Given the description of an element on the screen output the (x, y) to click on. 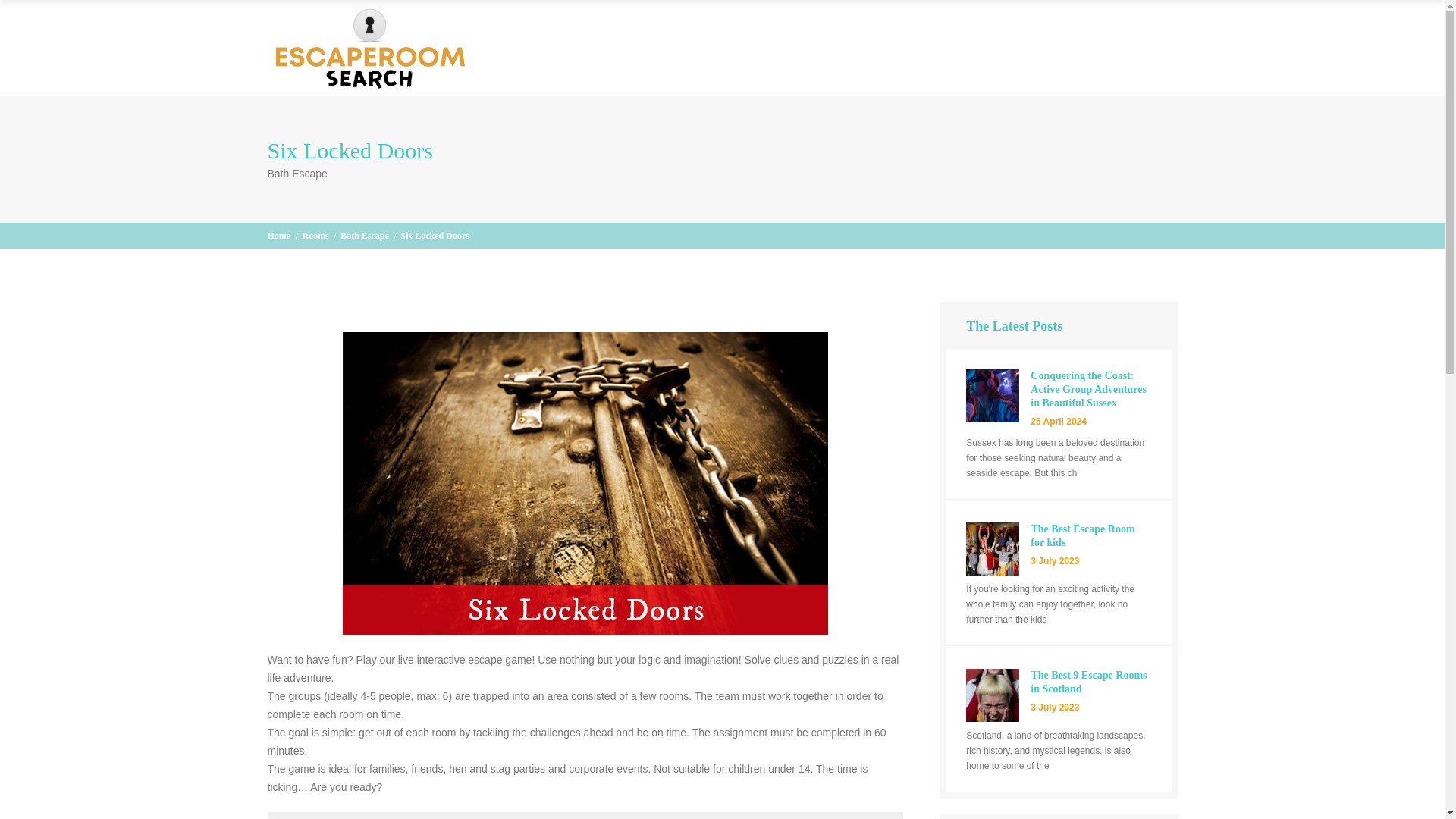
Bath Escape (364, 235)
Rooms (315, 235)
Escape Room Search (277, 235)
Home (277, 235)
Escape Room Search (368, 47)
Rooms (315, 235)
